Given the description of an element on the screen output the (x, y) to click on. 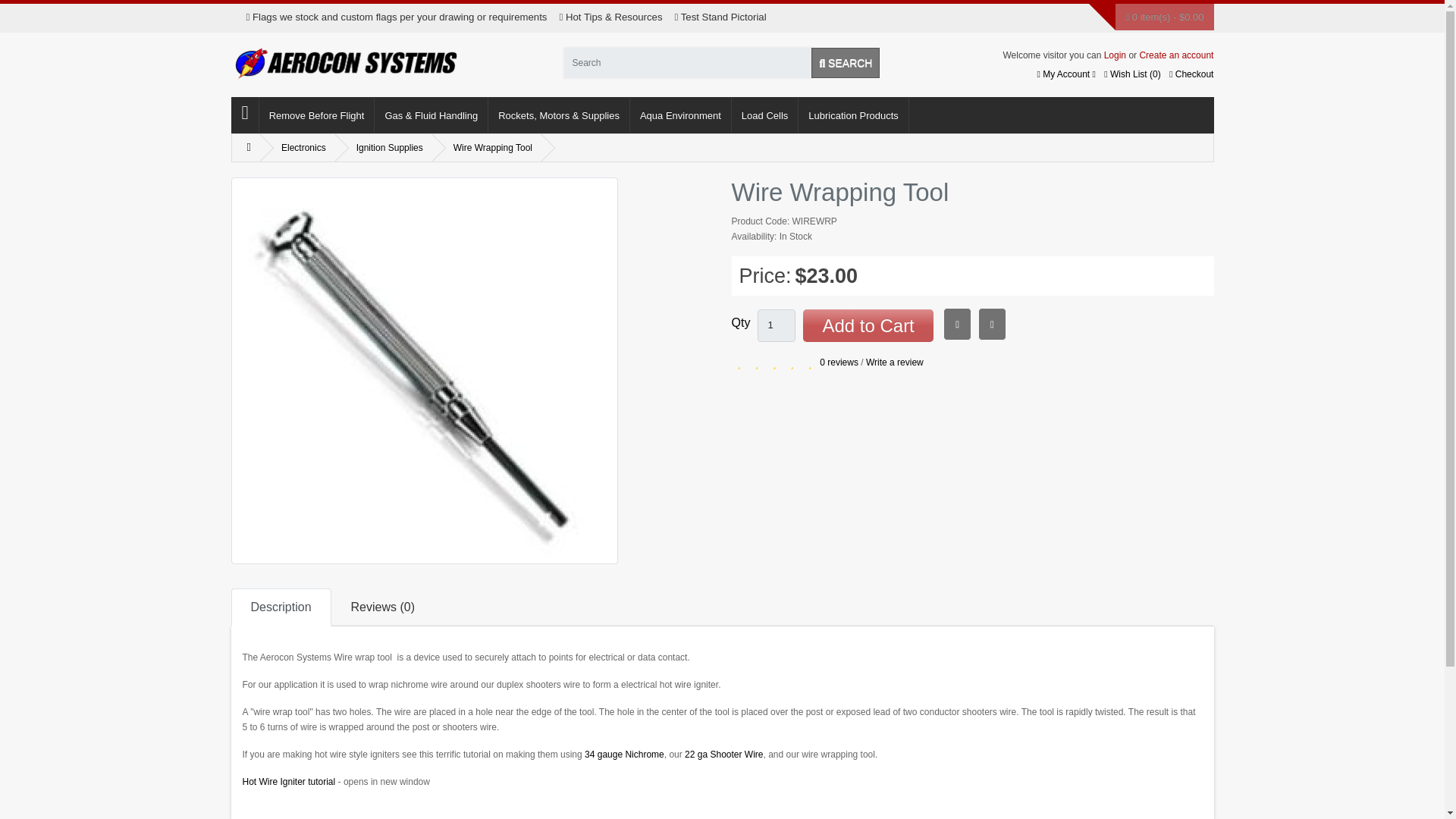
Create an account (1175, 54)
Checkout (1190, 73)
Remove Before Flight (317, 114)
SEARCH (844, 62)
Test Stand Pictorial (720, 16)
Aerocon Systems (344, 63)
Login (1114, 54)
1 (775, 325)
